Given the description of an element on the screen output the (x, y) to click on. 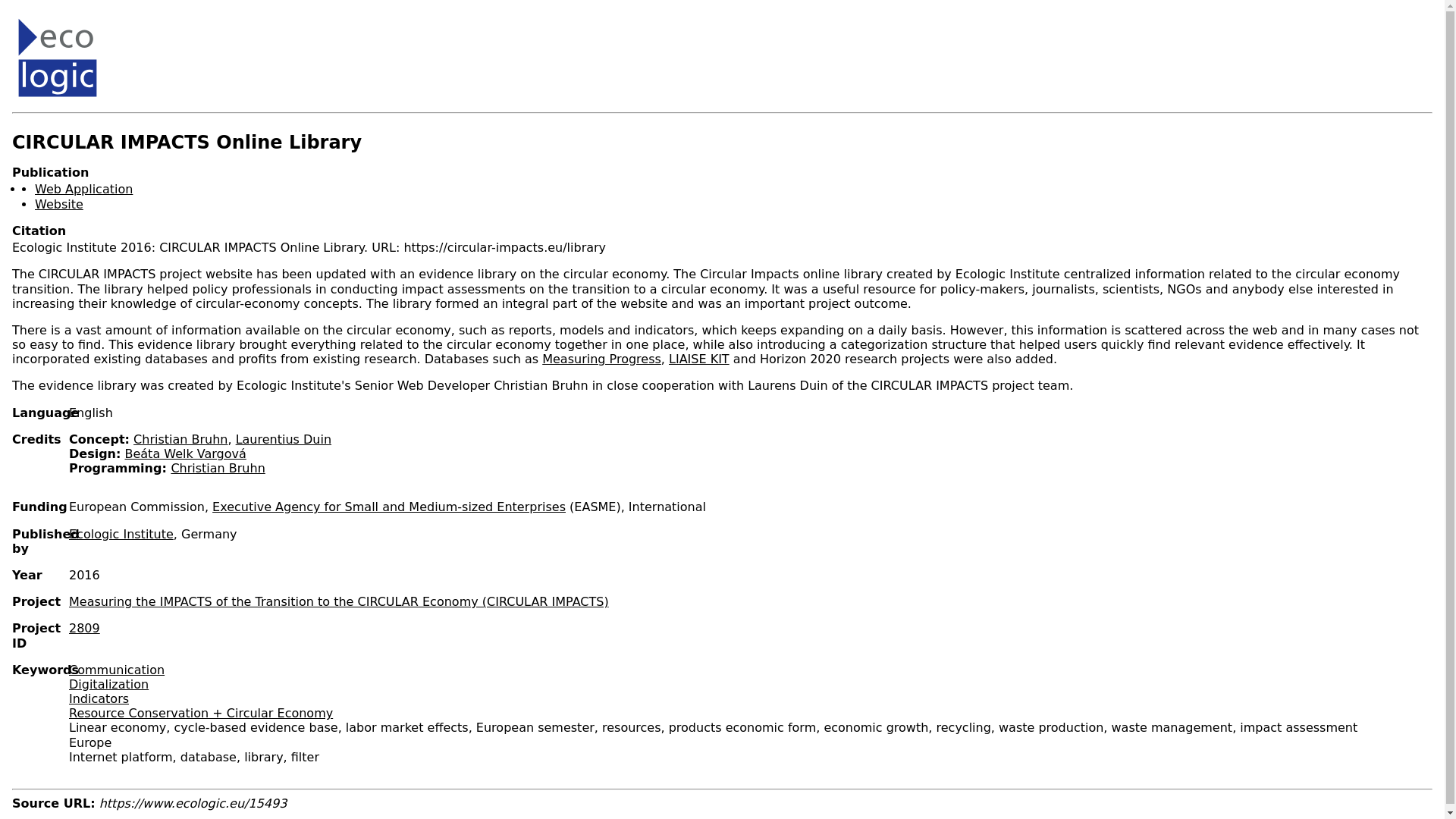
Laurentius Duin (283, 439)
LIAISE KIT (698, 359)
Measuring Progress (601, 359)
Christian Bruhn (180, 439)
Christian Bruhn (217, 468)
Website (58, 204)
Web Application (83, 188)
